Given the description of an element on the screen output the (x, y) to click on. 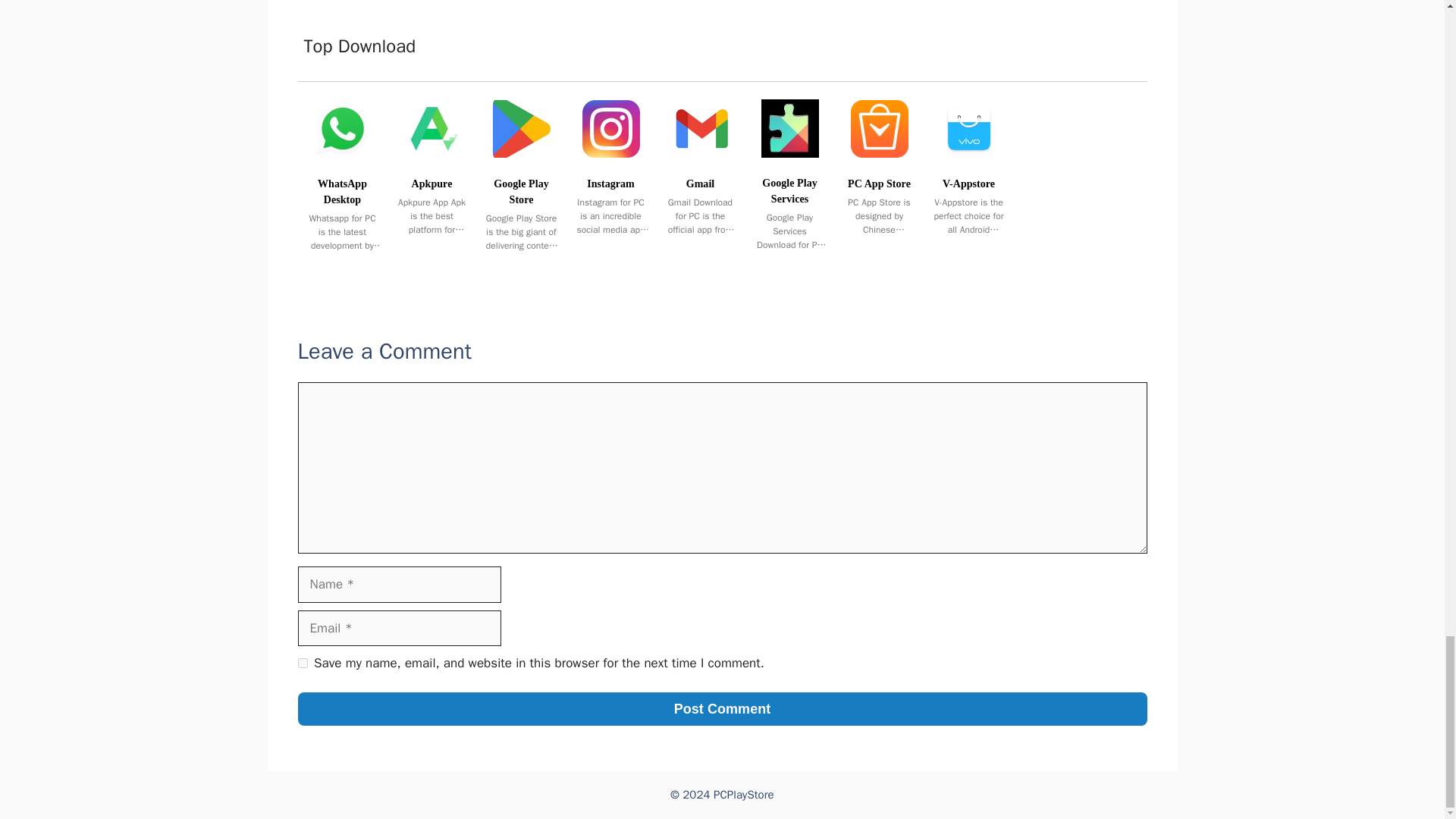
CapCut (809, 7)
PCPlayStore (743, 794)
yes (302, 663)
Post Comment (722, 708)
Post Comment (722, 708)
